Given the description of an element on the screen output the (x, y) to click on. 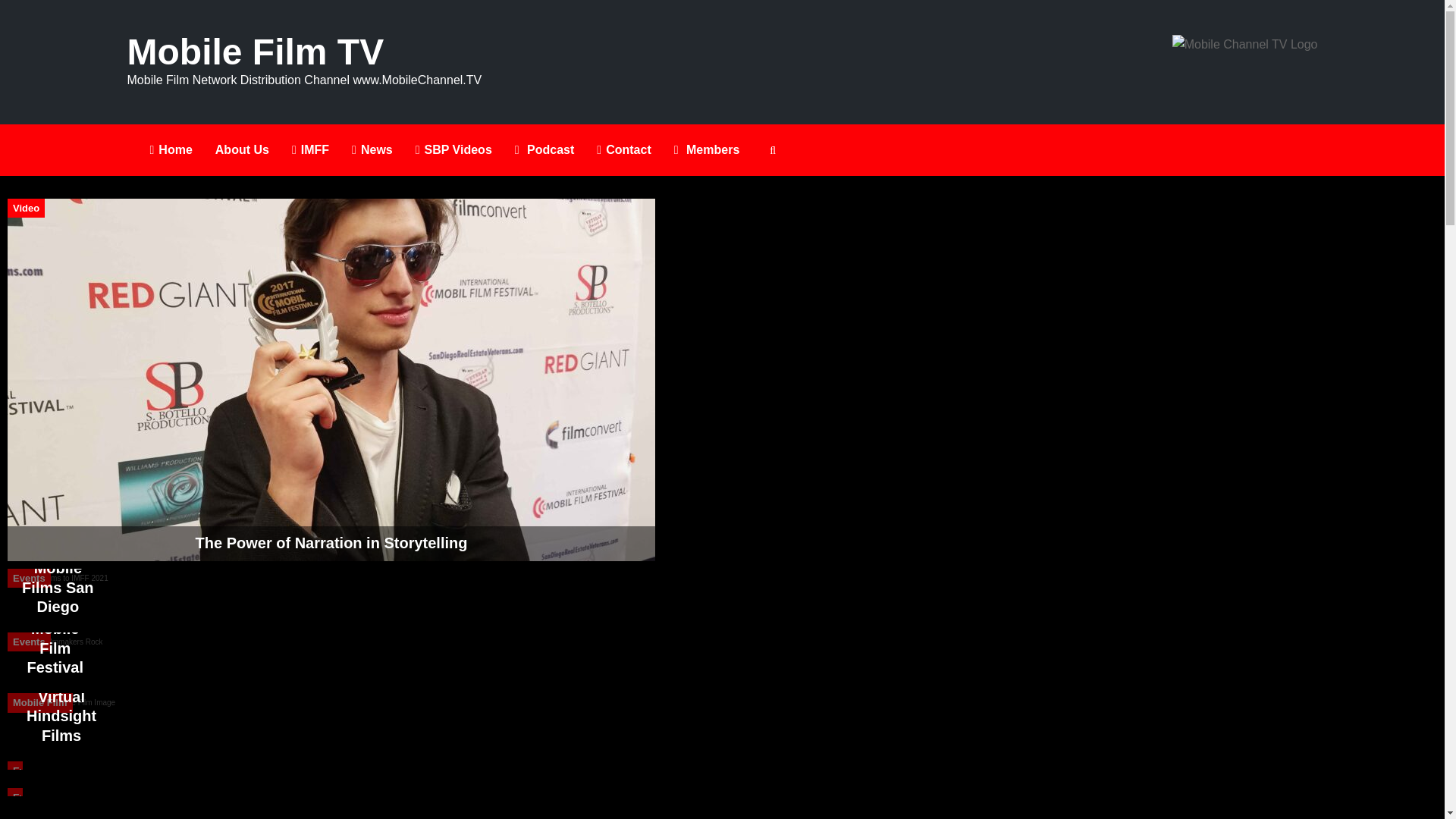
Mobile Film TV (256, 60)
IMFF (310, 149)
Home (170, 149)
Podcast (544, 149)
About Us (242, 149)
Members (706, 149)
SBP Videos (453, 149)
Contact (623, 149)
News (372, 149)
